Given the description of an element on the screen output the (x, y) to click on. 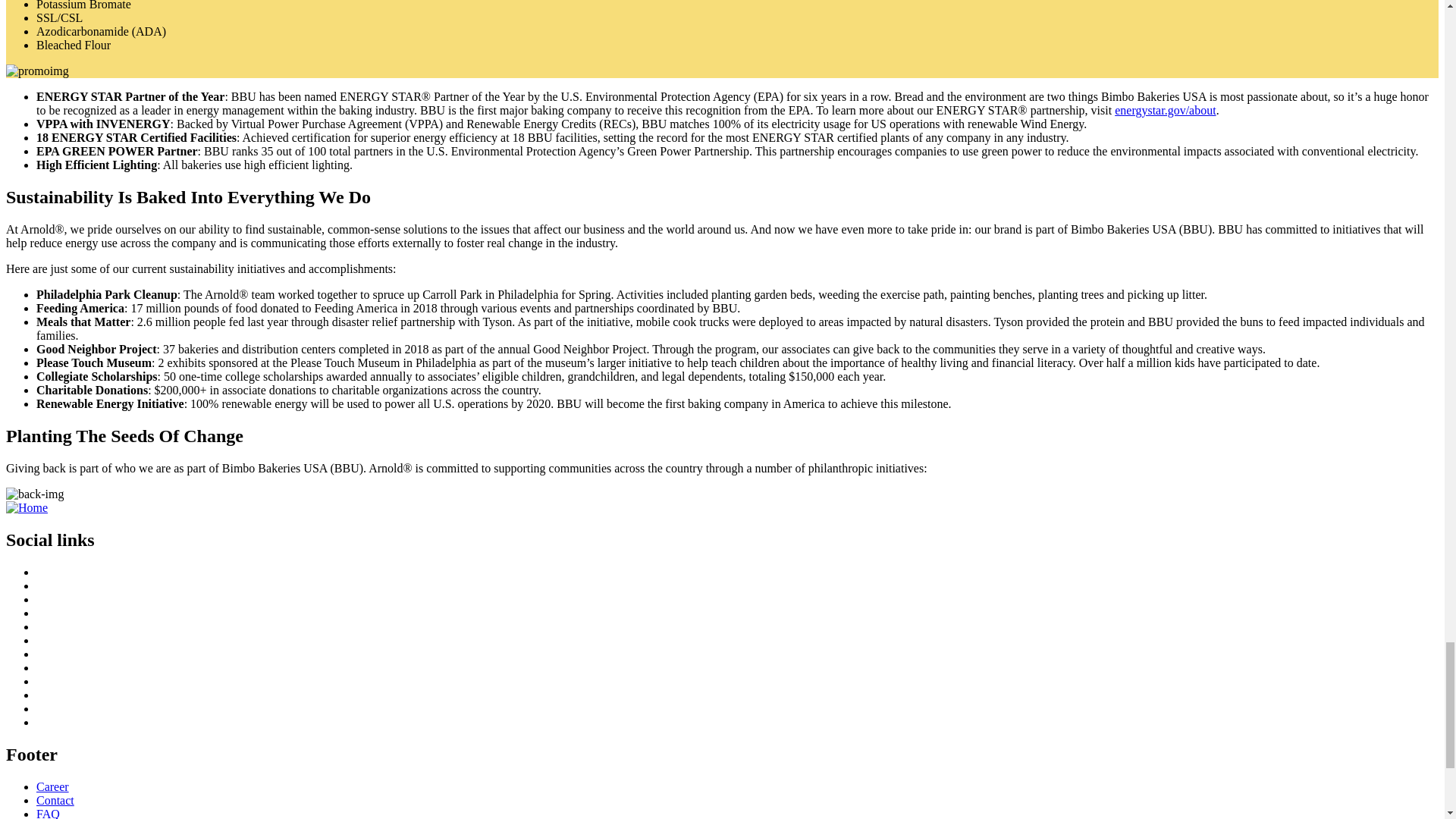
Home (26, 507)
